Given the description of an element on the screen output the (x, y) to click on. 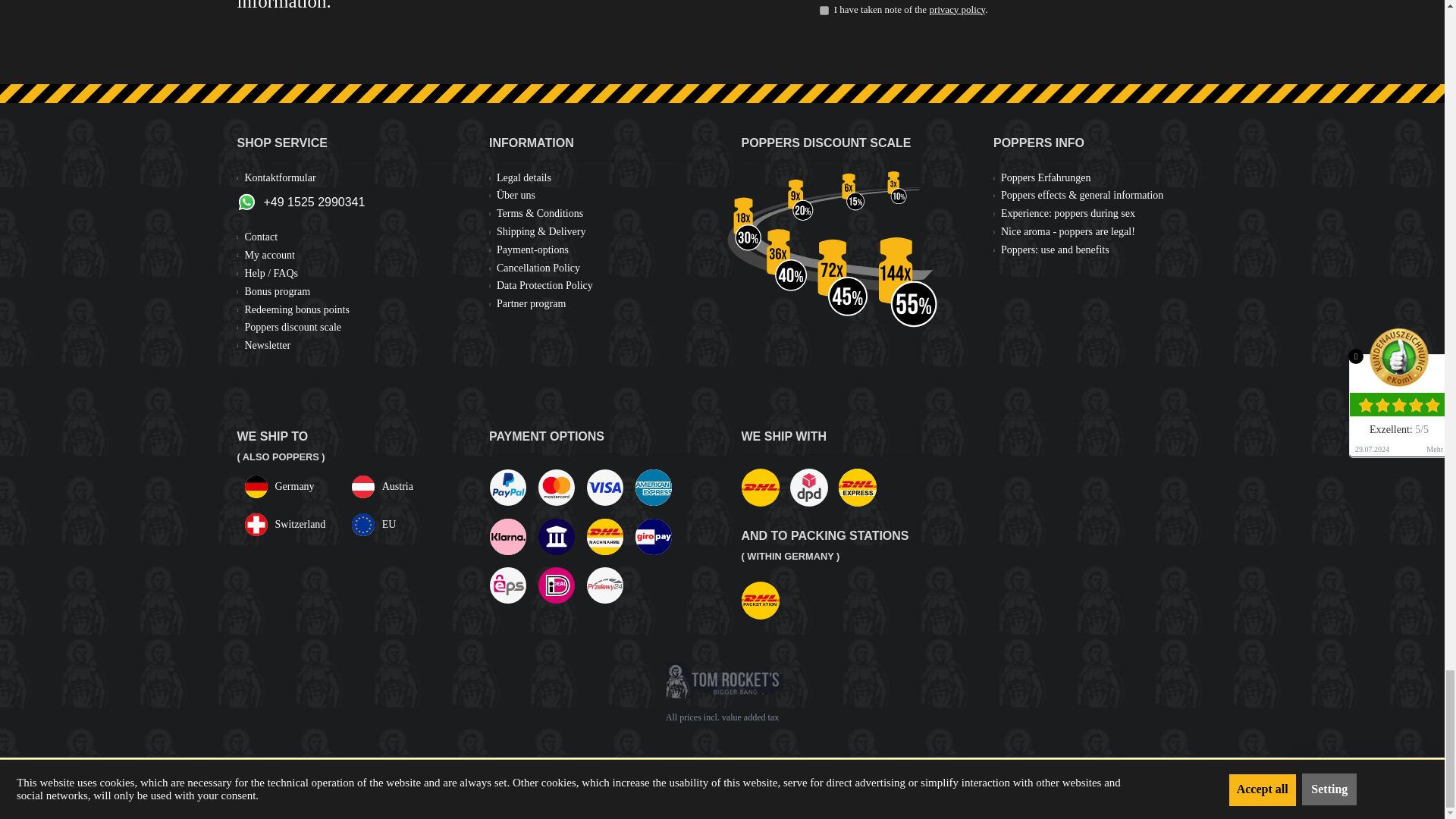
on (823, 10)
